Given the description of an element on the screen output the (x, y) to click on. 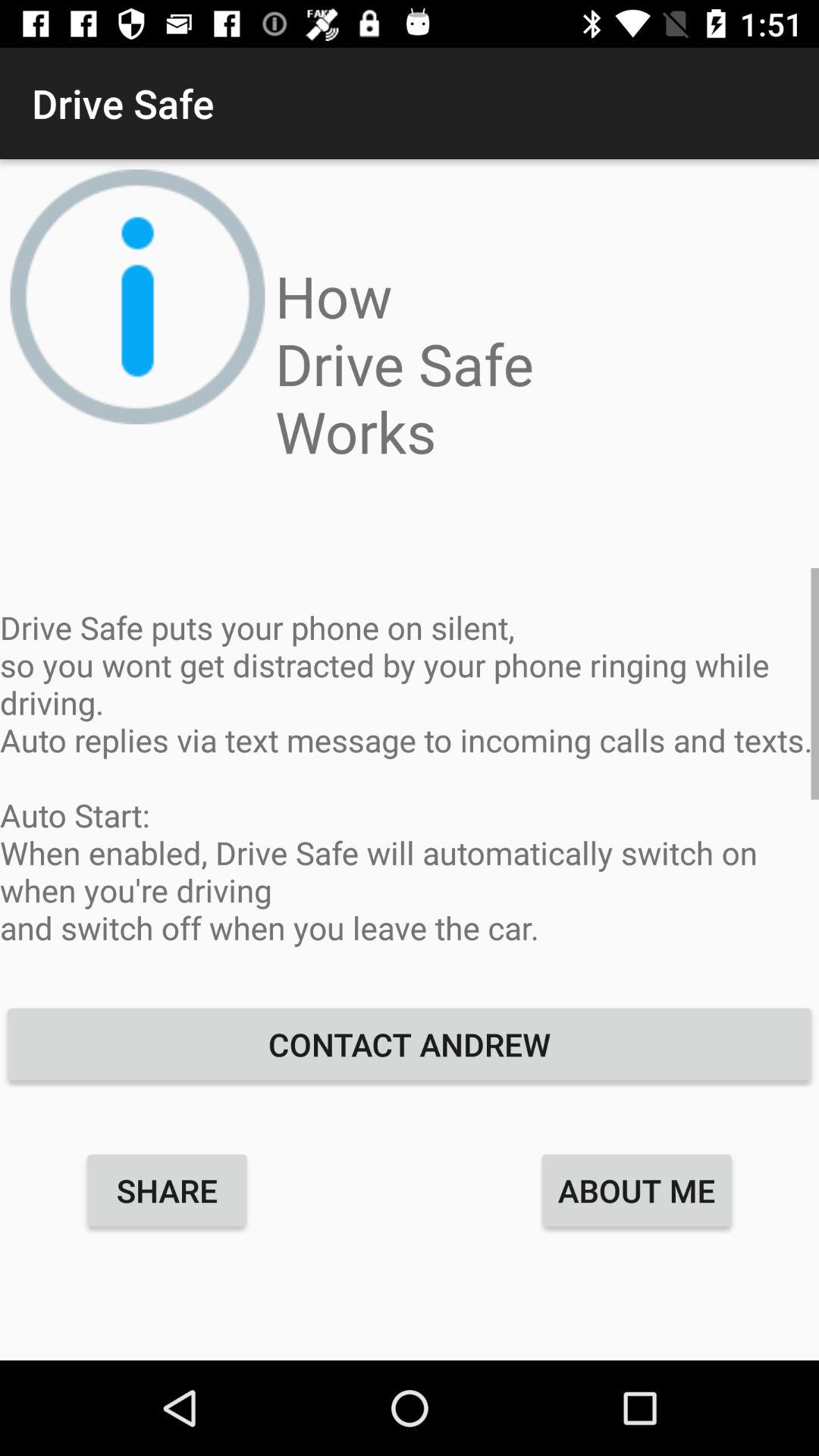
launch item next to the share item (636, 1190)
